Given the description of an element on the screen output the (x, y) to click on. 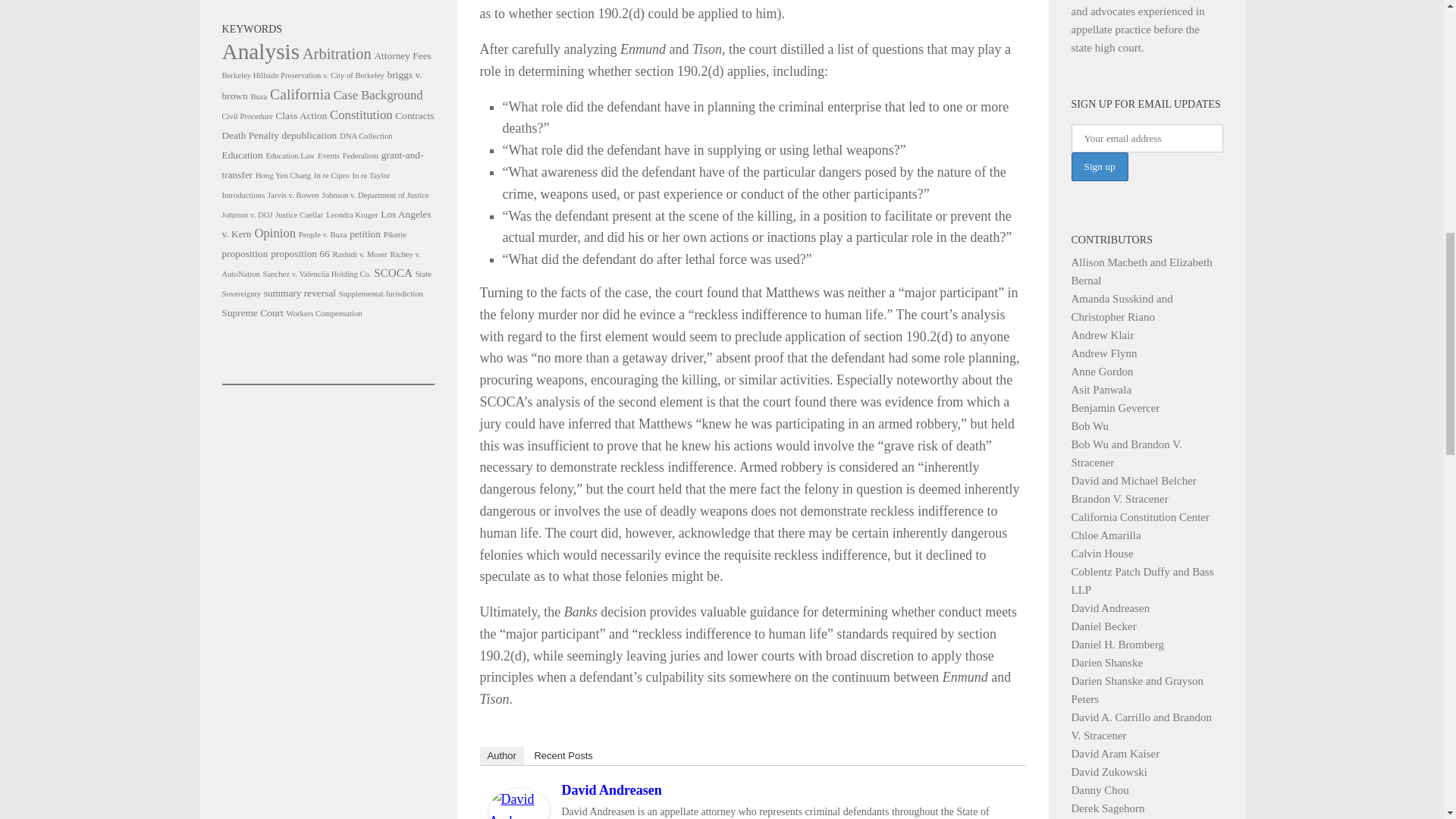
Sign up (1098, 166)
Recent Posts (562, 755)
David Andreasen (610, 789)
Author (500, 755)
